Given the description of an element on the screen output the (x, y) to click on. 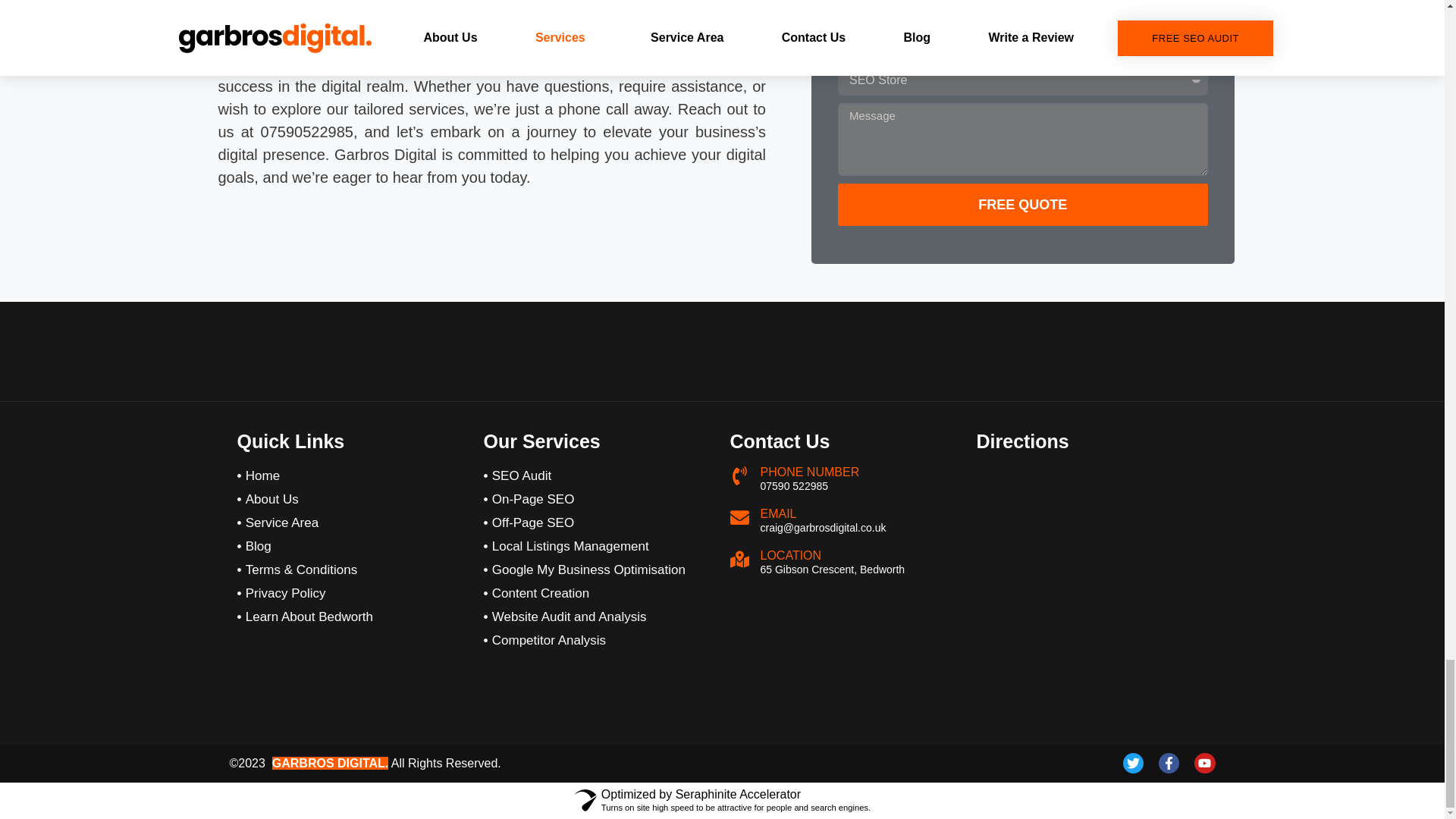
garbros digital logo white (598, 350)
65 Gibson Crescent Bedworth (1092, 512)
